Given the description of an element on the screen output the (x, y) to click on. 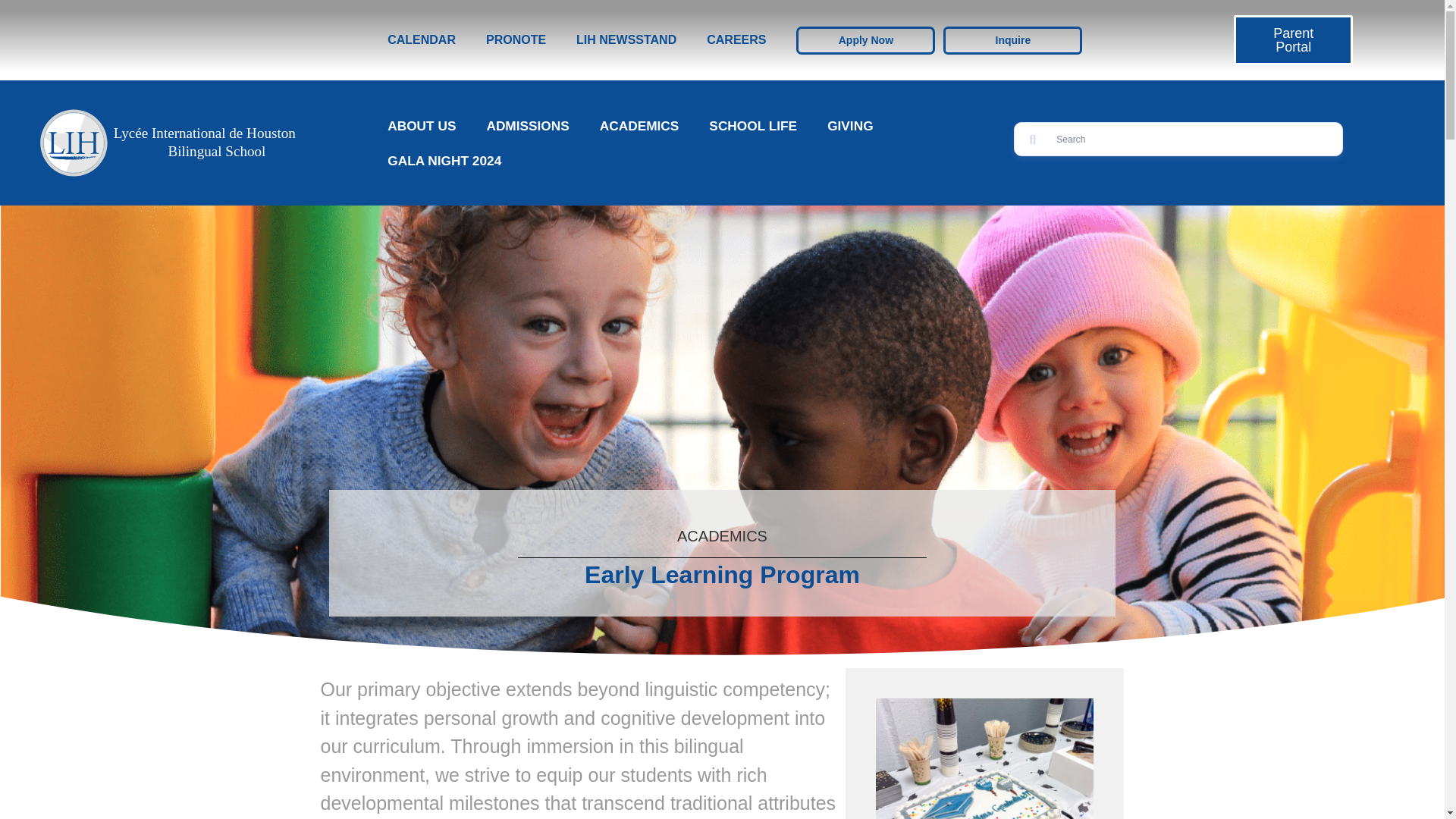
CAREERS (735, 39)
Inquire (1012, 39)
ABOUT US (421, 125)
PRONOTE (515, 39)
Parent Portal (1292, 40)
ADMISSIONS (526, 125)
Apply Now (865, 39)
LIH NEWSSTAND (625, 39)
CALENDAR (421, 39)
SCHOOL LIFE (753, 125)
